Given the description of an element on the screen output the (x, y) to click on. 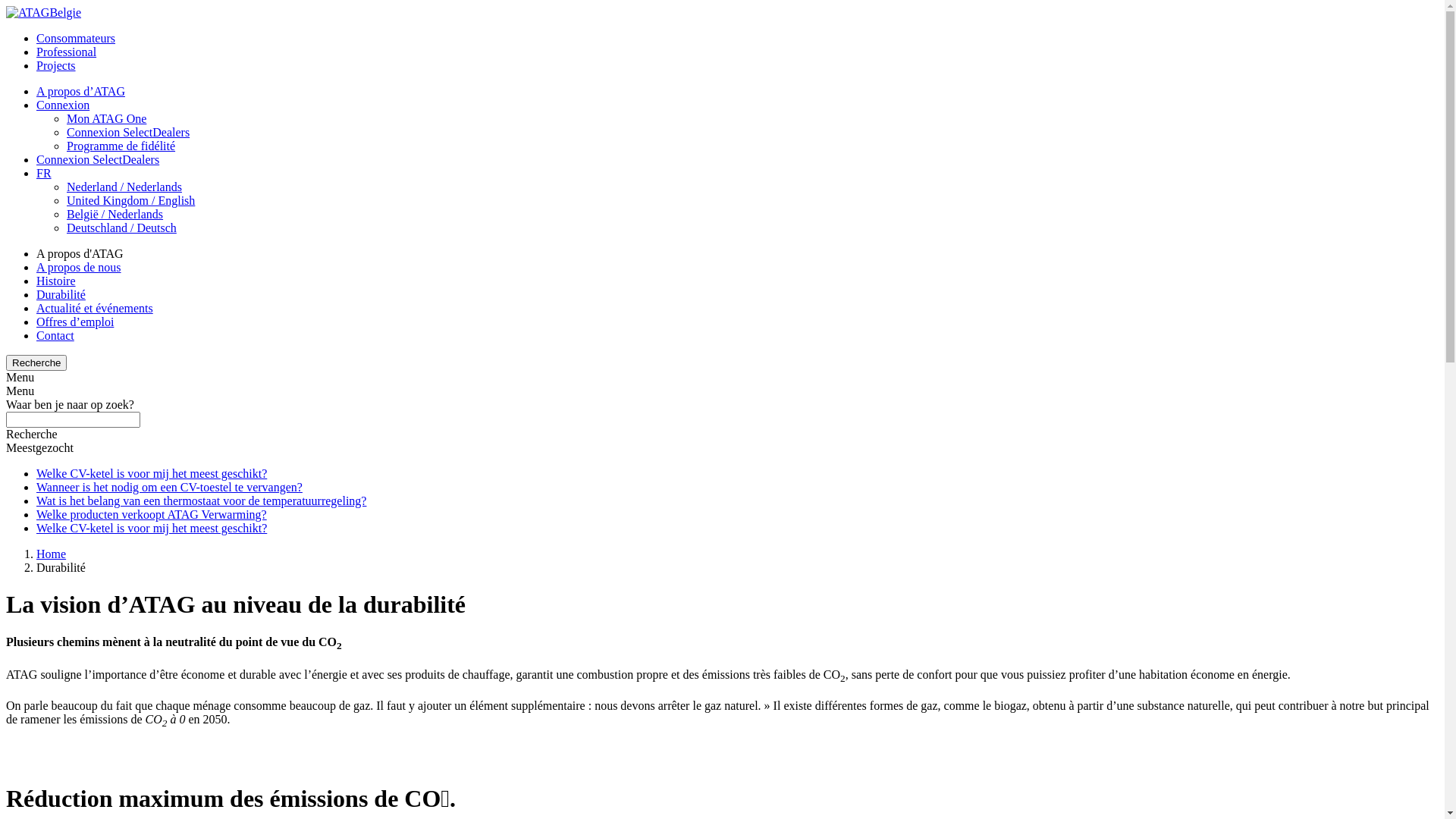
United Kingdom / English Element type: text (130, 200)
FR Element type: text (43, 172)
Professional Element type: text (66, 51)
A propos de nous Element type: text (78, 266)
Connexion SelectDealers Element type: text (127, 131)
Recherche Element type: text (36, 362)
Deutschland / Deutsch Element type: text (121, 227)
Histoire Element type: text (55, 280)
Home Element type: text (50, 553)
Nederland / Nederlands Element type: text (124, 186)
Projects Element type: text (55, 65)
Consommateurs Element type: text (75, 37)
Welke CV-ketel is voor mij het meest geschikt? Element type: text (151, 527)
Connexion Element type: text (62, 104)
Welke producten verkoopt ATAG Verwarming? Element type: text (151, 514)
Contact Element type: text (55, 335)
Wanneer is het nodig om een CV-toestel te vervangen? Element type: text (169, 486)
Mon ATAG One Element type: text (106, 118)
Welke CV-ketel is voor mij het meest geschikt? Element type: text (151, 473)
Connexion SelectDealers Element type: text (97, 159)
